Given the description of an element on the screen output the (x, y) to click on. 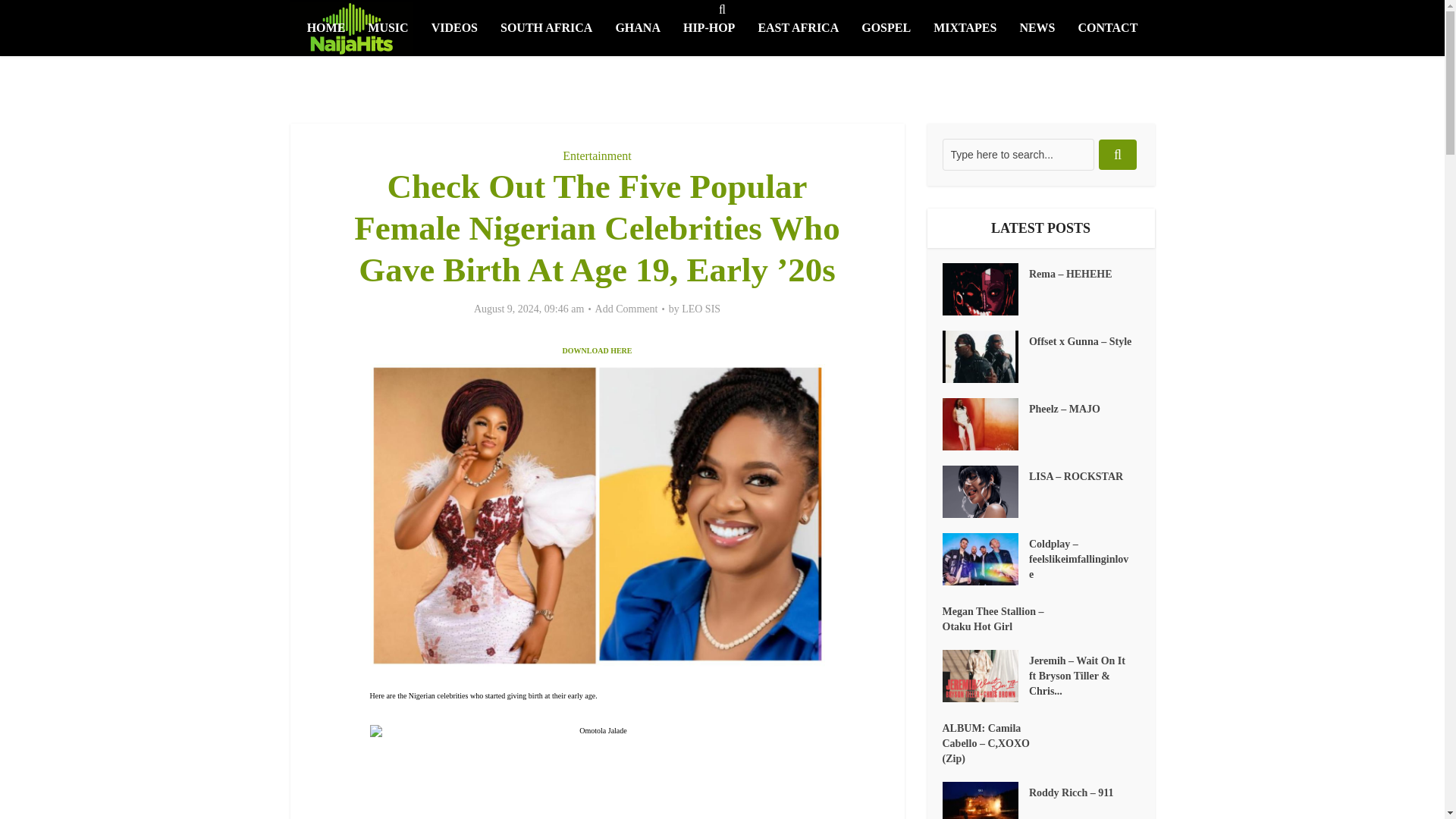
VIDEOS (454, 28)
HIP-HOP (708, 28)
LEO SIS (700, 309)
SOUTH AFRICA (546, 28)
Add Comment (626, 309)
GHANA (637, 28)
CONTACT (1108, 28)
MUSIC (387, 28)
NEWS (1036, 28)
MIXTAPES (964, 28)
